Given the description of an element on the screen output the (x, y) to click on. 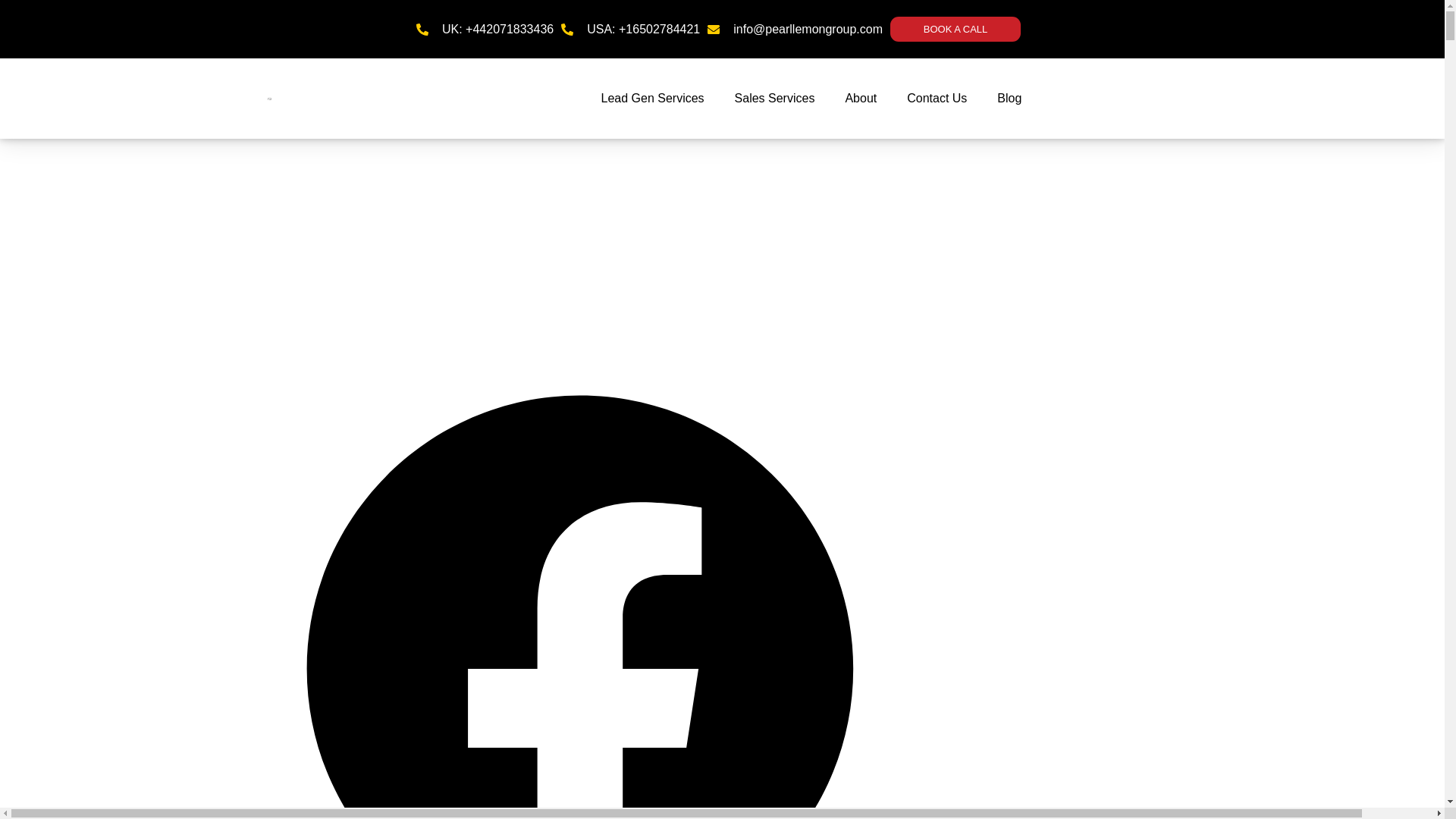
Contact Us (936, 98)
Lead Gen Services (652, 98)
Blog (1008, 98)
About (860, 98)
Sales Services (774, 98)
BOOK A CALL (954, 28)
